Given the description of an element on the screen output the (x, y) to click on. 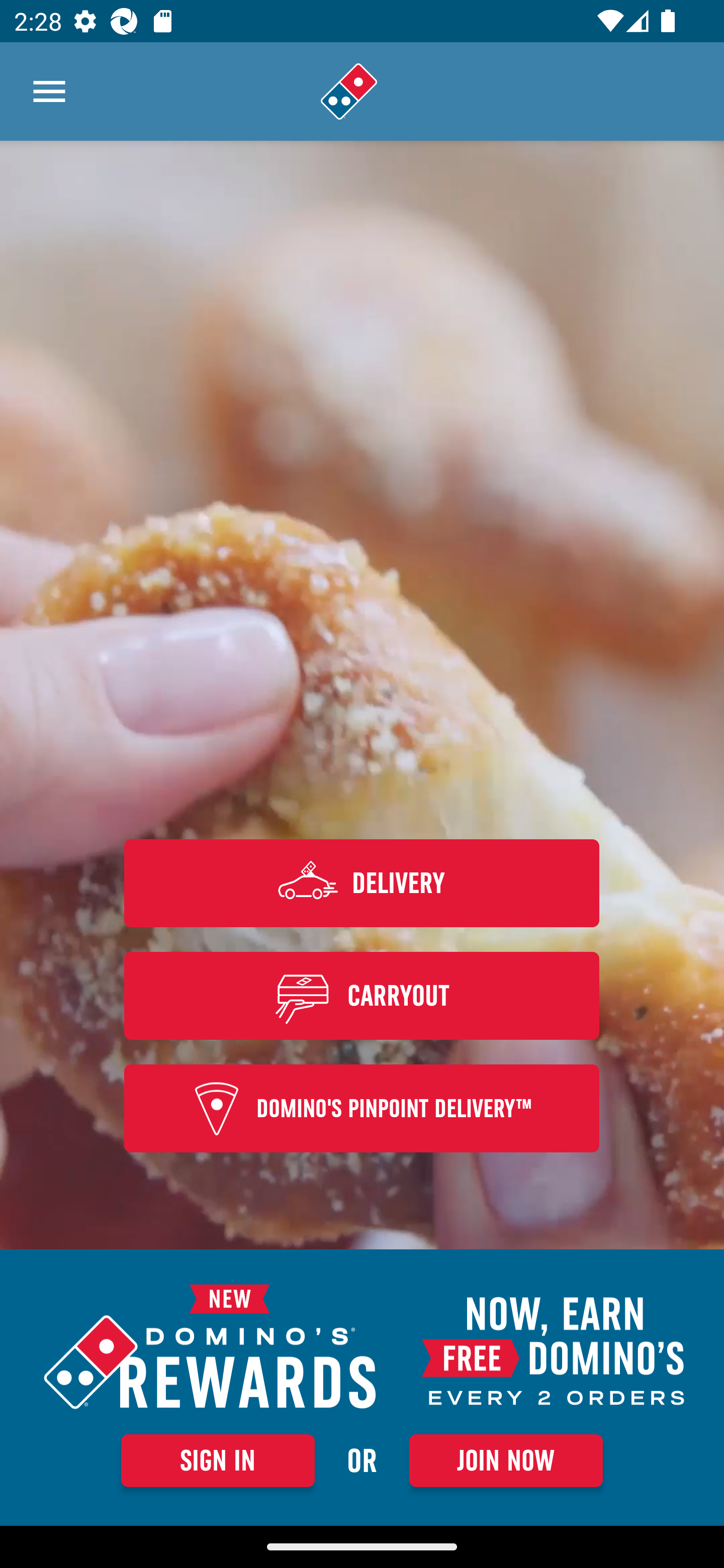
Expand Menu (49, 91)
DELIVERY (361, 882)
CARRYOUT (361, 995)
DOMINO'S PINPOINT DELIVERY™ (361, 1108)
SIGN IN (217, 1460)
JOIN NOW (506, 1460)
